Given the description of an element on the screen output the (x, y) to click on. 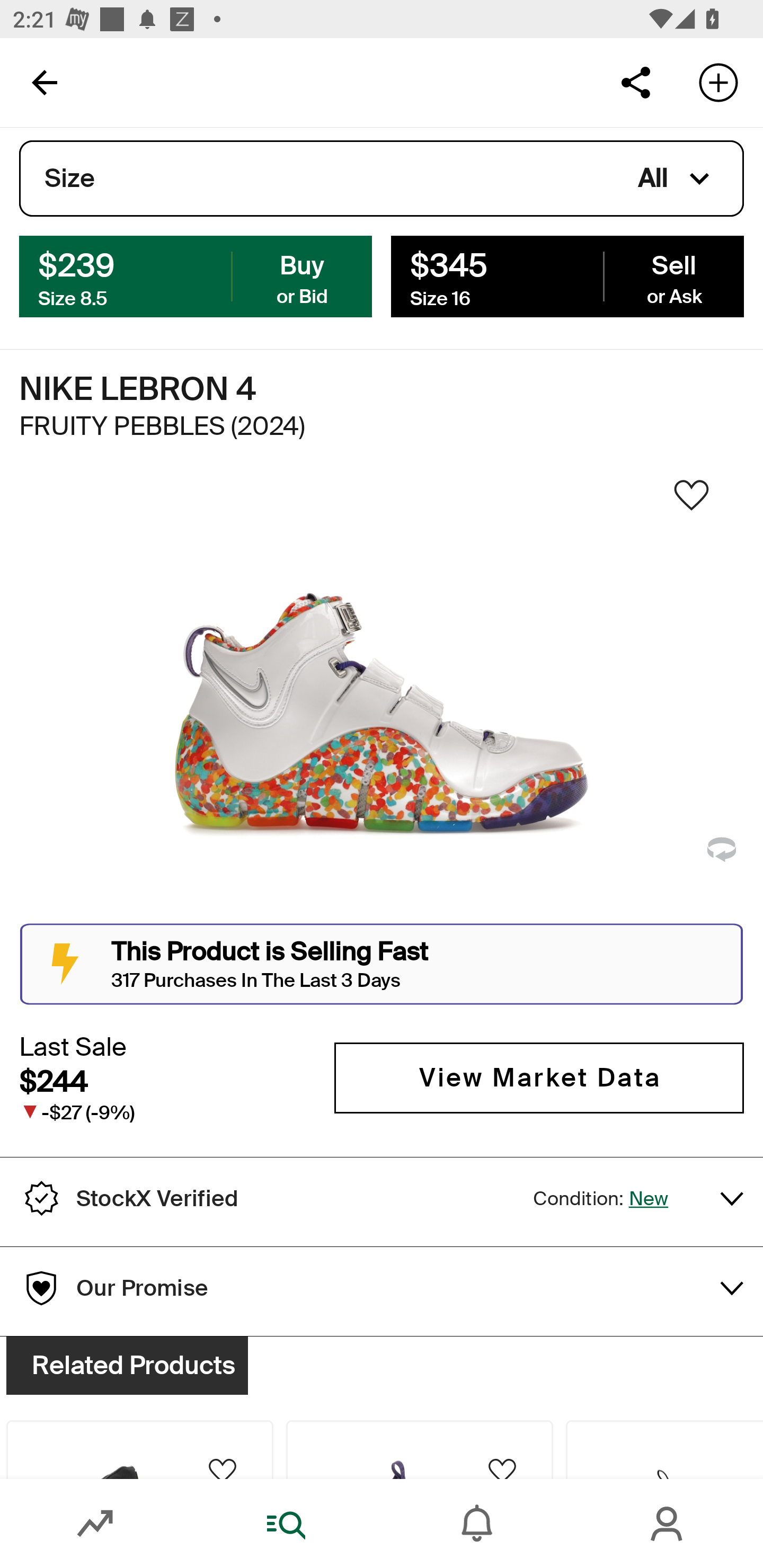
Share (635, 81)
Size All (381, 178)
$239 Buy Size 8.5 or Bid (195, 275)
$345 Sell Size 16 or Ask (566, 275)
Sneaker Image (381, 699)
View Market Data (538, 1077)
Market (95, 1523)
Inbox (476, 1523)
Account (667, 1523)
